Given the description of an element on the screen output the (x, y) to click on. 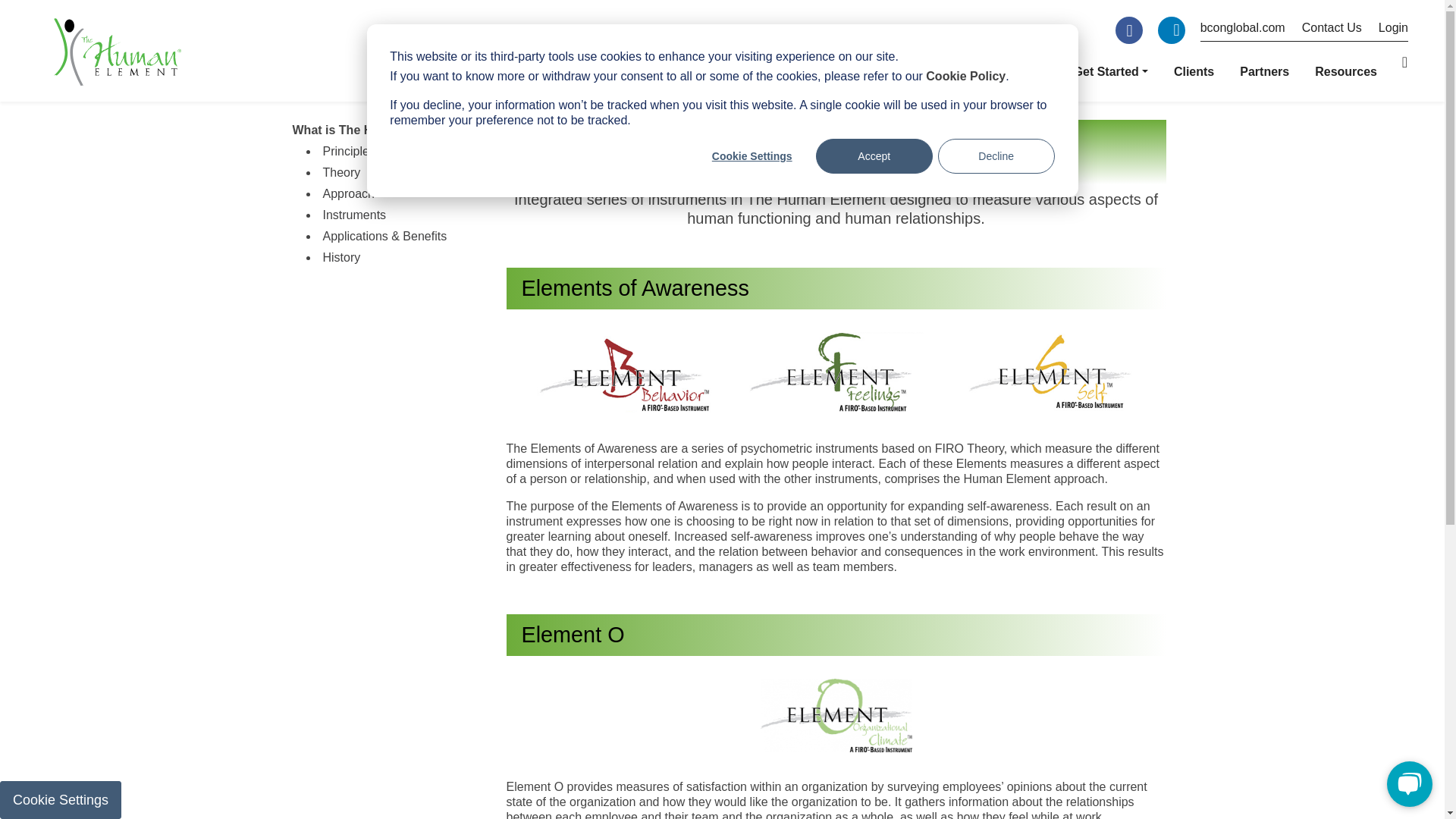
Resources (1345, 71)
Contact Us (1323, 31)
Get Started (1111, 71)
Organizational Solutions (817, 71)
Clients (1193, 71)
Become a Practitioner (984, 71)
Partners (1264, 71)
Login (1384, 31)
bconglobal.com (1242, 31)
Login (1384, 31)
What is The Human Element (629, 71)
